Given the description of an element on the screen output the (x, y) to click on. 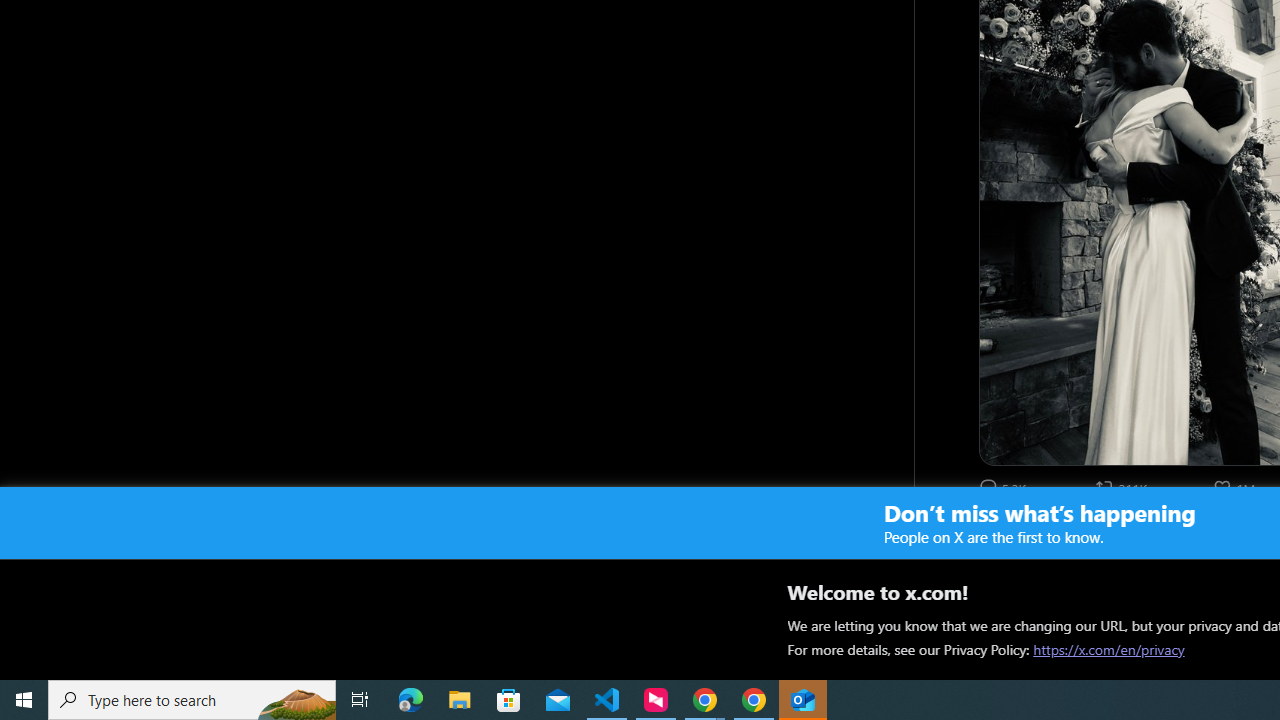
5329 Replies. Reply (1004, 487)
1066897 Likes. Like (1236, 487)
Verified account (1072, 532)
@MileyCyrus (1128, 532)
Miley Cyrus Verified account (1030, 532)
Jul 16, 2019 (1223, 532)
211521 reposts. Repost (1123, 487)
https://x.com/en/privacy (1108, 649)
@selenagomez (1071, 554)
